Given the description of an element on the screen output the (x, y) to click on. 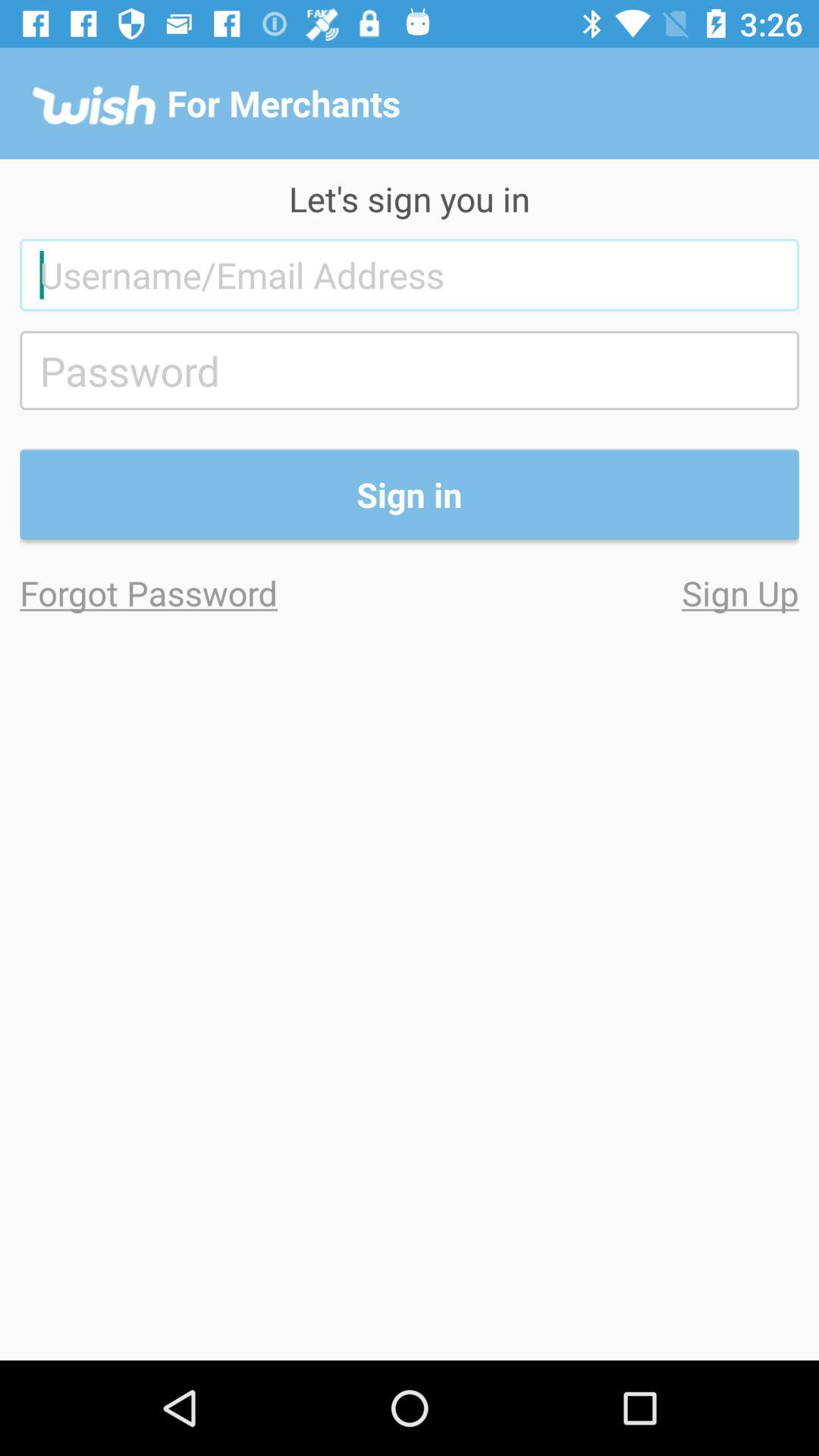
tap item on the left (214, 592)
